Given the description of an element on the screen output the (x, y) to click on. 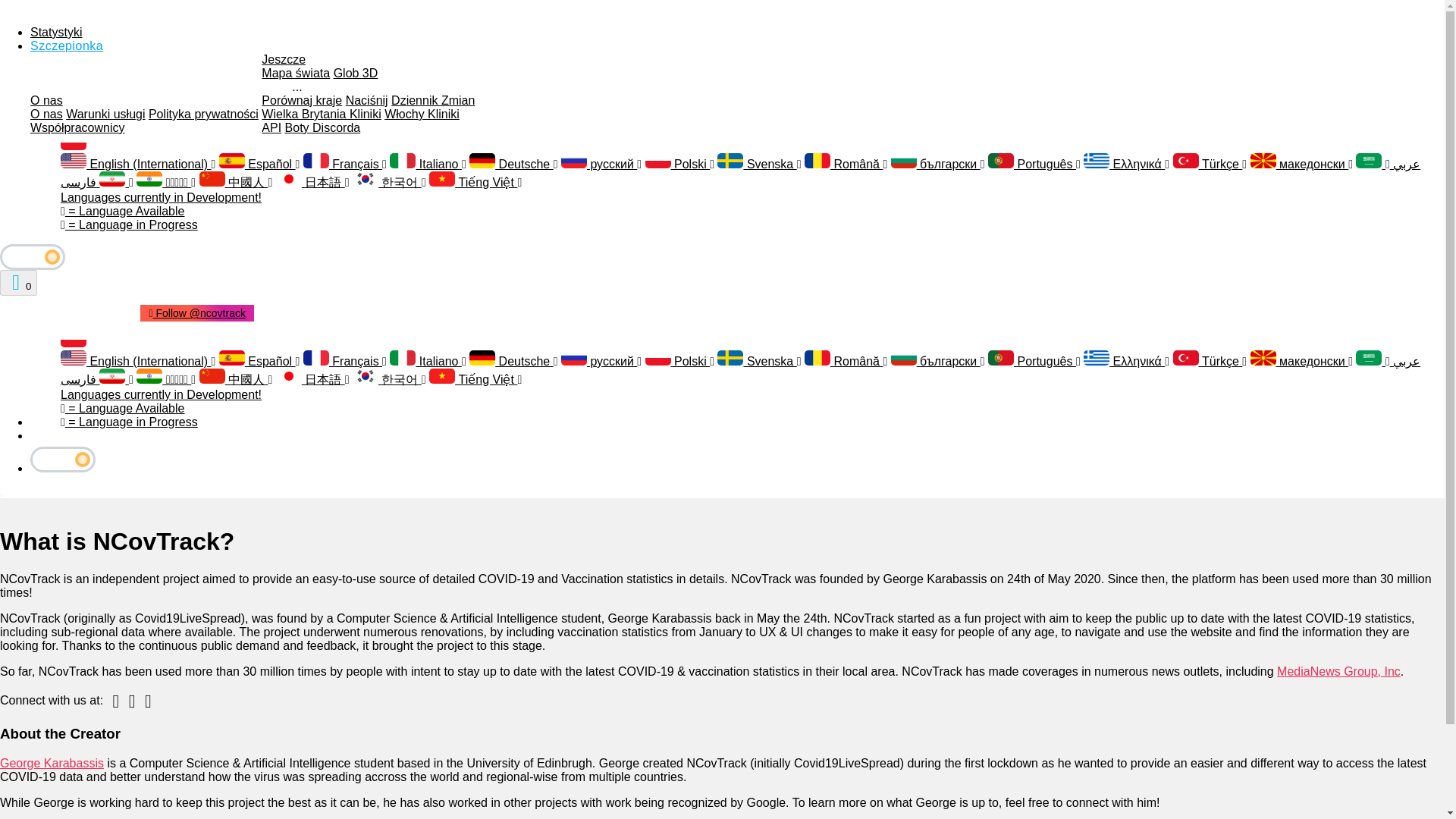
Jeszcze (283, 59)
Boty Discorda (323, 127)
Twitter Follow Button (68, 305)
Glob 3D (355, 72)
Deutsche (512, 164)
Wielka Brytania Kliniki (321, 113)
API (271, 127)
Statystyki (55, 31)
Italiano (427, 164)
Szczepionka (66, 45)
O nas (46, 113)
Svenska (758, 164)
Dziennik Zmian (432, 100)
O nas (46, 100)
